Given the description of an element on the screen output the (x, y) to click on. 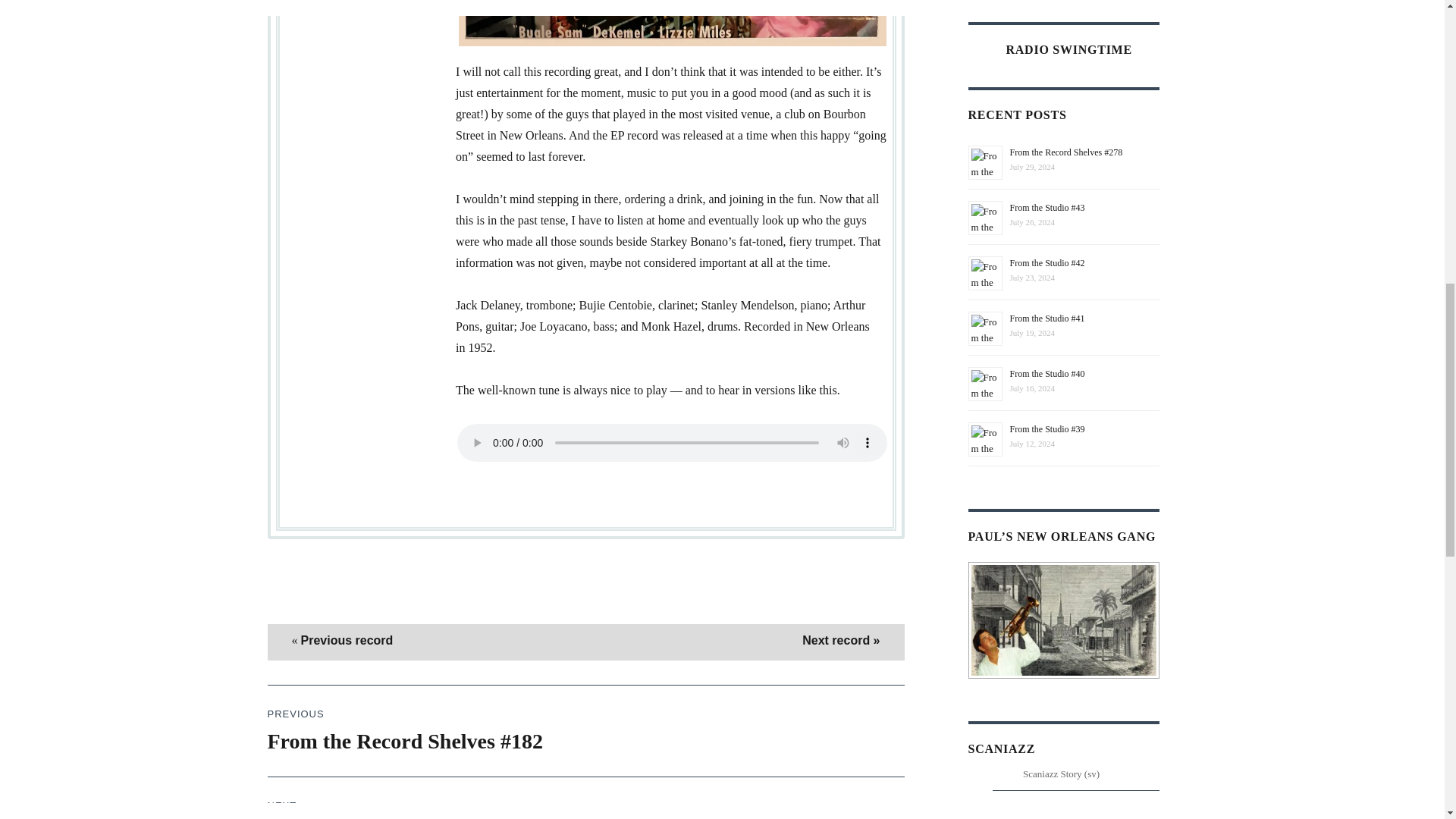
Previous record (346, 640)
